Given the description of an element on the screen output the (x, y) to click on. 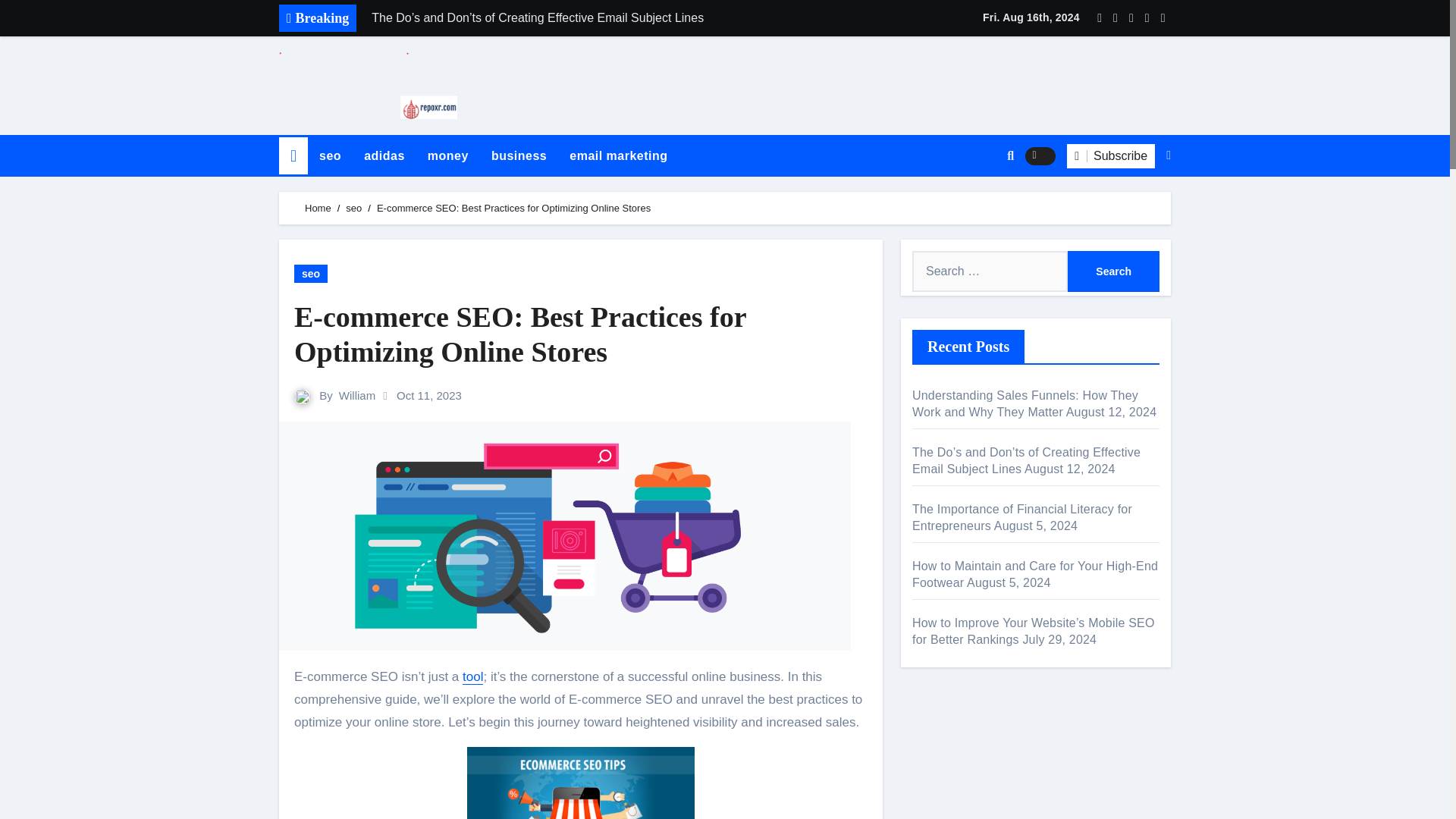
tool (473, 676)
adidas (384, 155)
Search (1112, 270)
adidas (384, 155)
Home (317, 207)
seo (310, 273)
seo (329, 155)
money (448, 155)
William (357, 394)
Search (1112, 270)
